Given the description of an element on the screen output the (x, y) to click on. 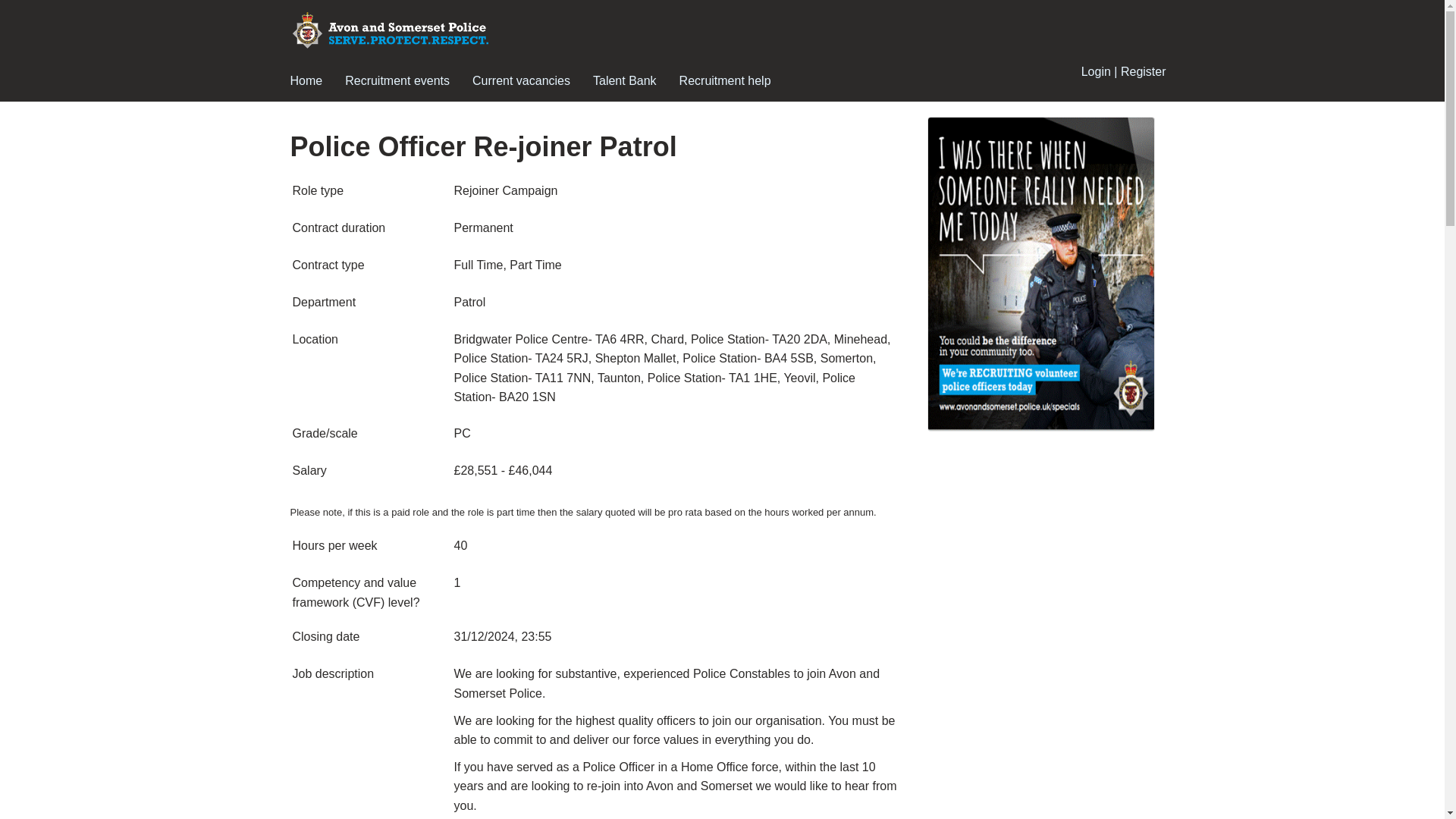
Login (1095, 72)
Talent Bank (624, 81)
Register (1143, 72)
Home (306, 81)
Recruitment help (725, 81)
Recruitment events (397, 81)
Current vacancies (520, 81)
